Given the description of an element on the screen output the (x, y) to click on. 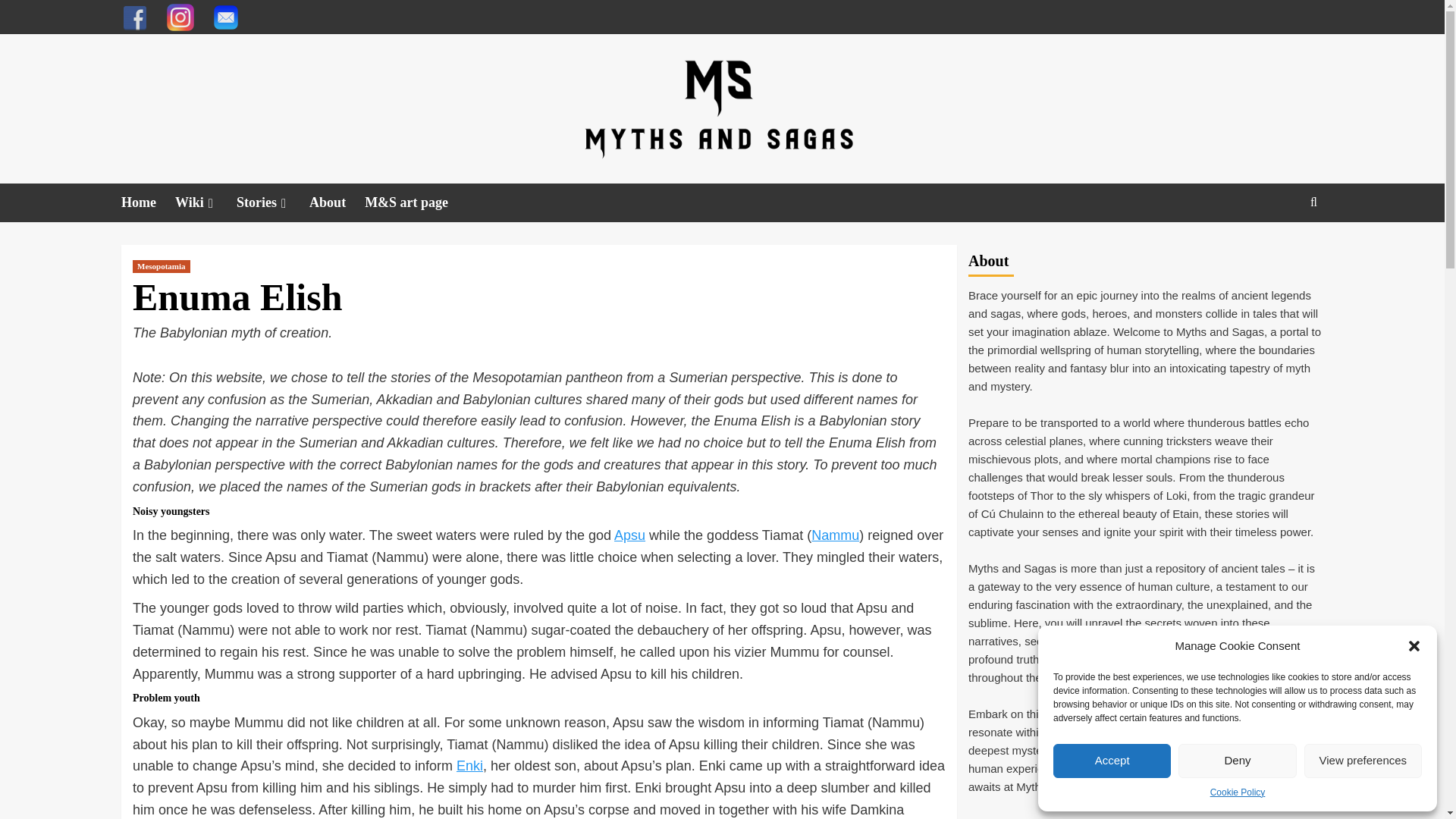
View preferences (1363, 760)
Deny (1236, 760)
Wiki (204, 202)
Accept (1111, 760)
Cookie Policy (1237, 792)
Search (1313, 202)
Home (147, 202)
About (336, 202)
Stories (271, 202)
